Given the description of an element on the screen output the (x, y) to click on. 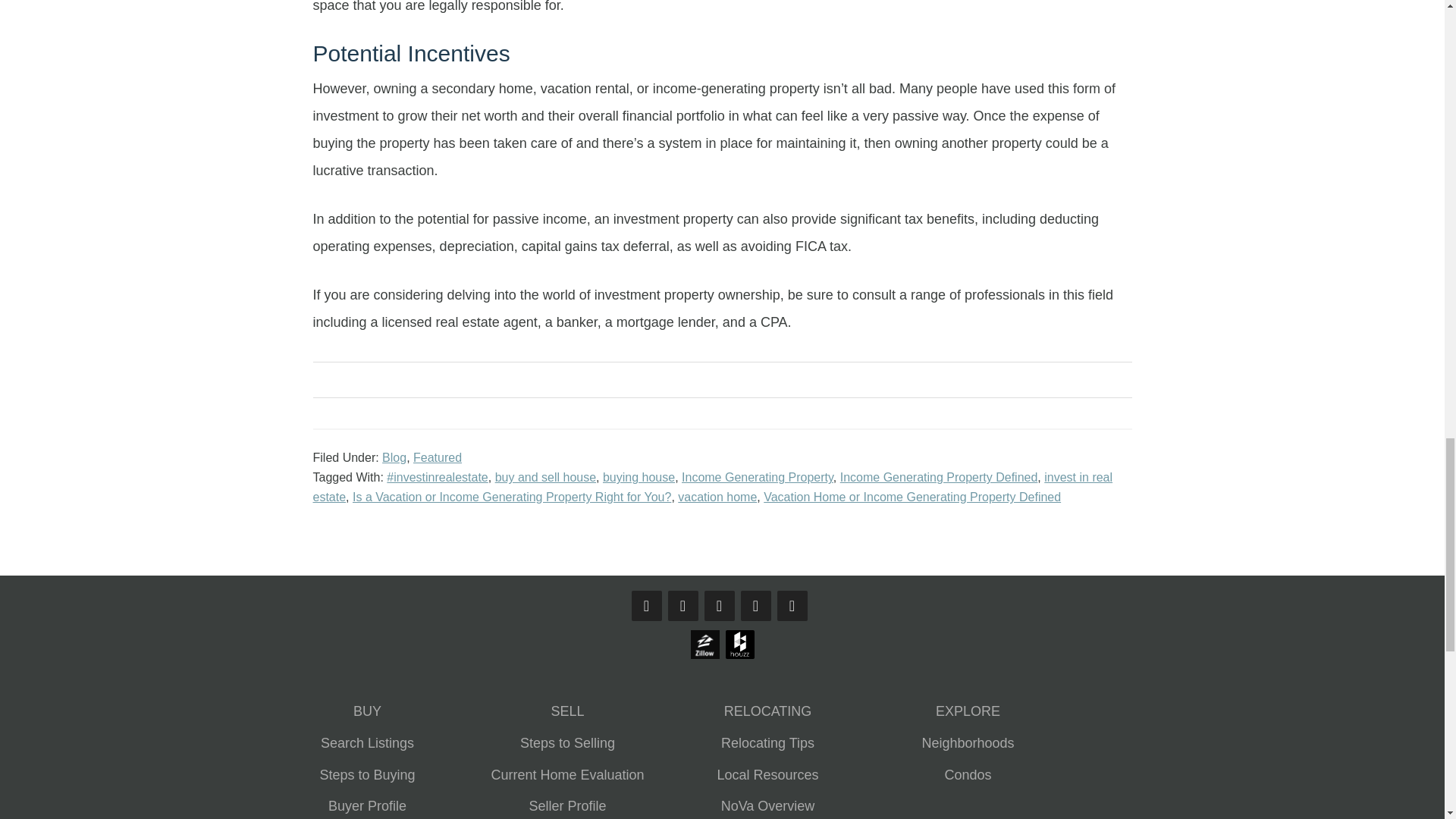
Featured (437, 457)
Houzz (739, 644)
Zillow (704, 644)
Houzz (739, 657)
Zillow (704, 657)
Blog (393, 457)
